Given the description of an element on the screen output the (x, y) to click on. 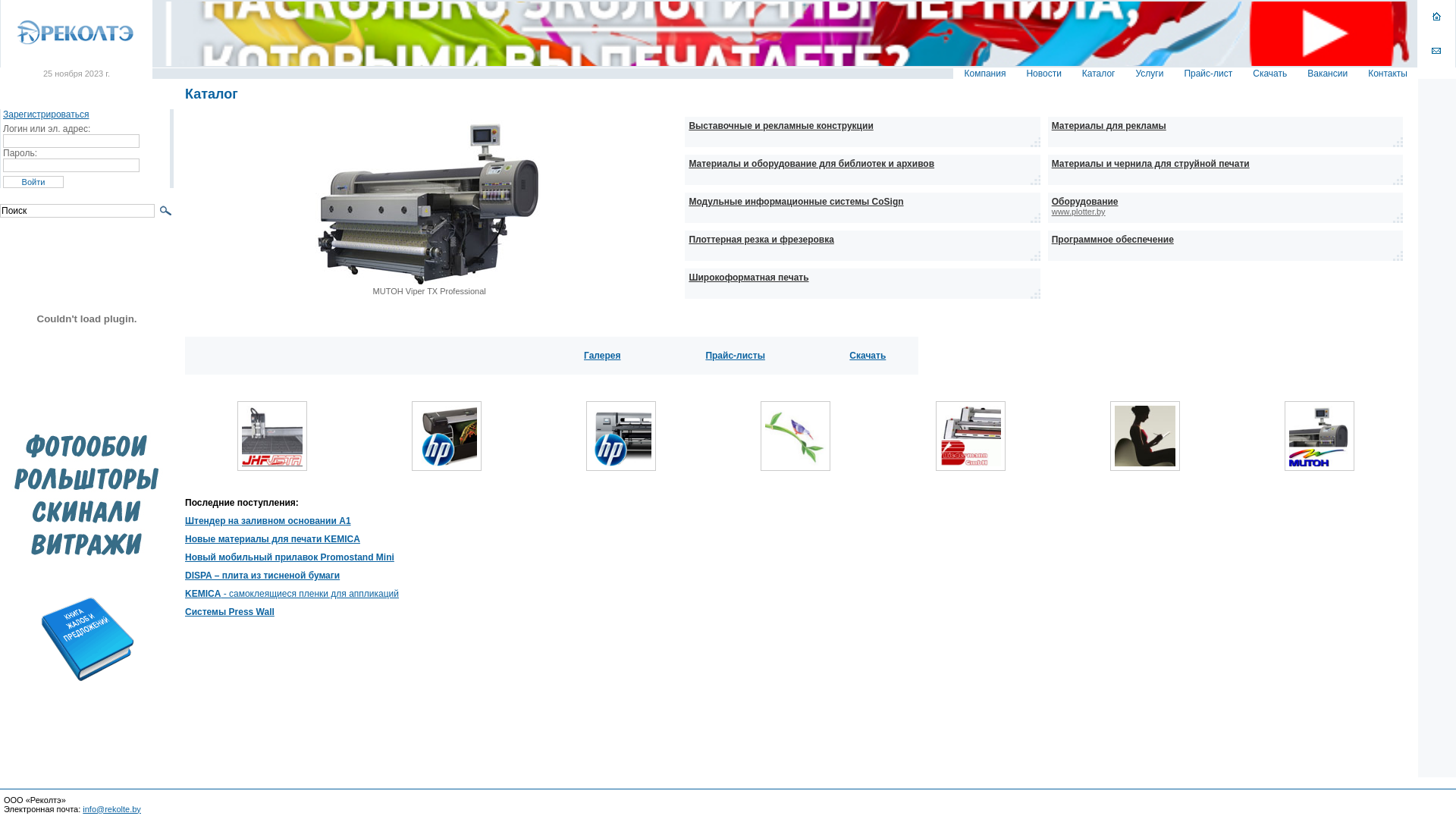
???????? / MUTOH Viper TX Professional Element type: hover (428, 283)
LiveInternet Element type: hover (1440, 803)
MUTOH Viper TX Professional Element type: hover (1319, 463)
www.plotter.by Element type: text (1078, 211)
info@rekolte.by Element type: text (111, 807)
